Given the description of an element on the screen output the (x, y) to click on. 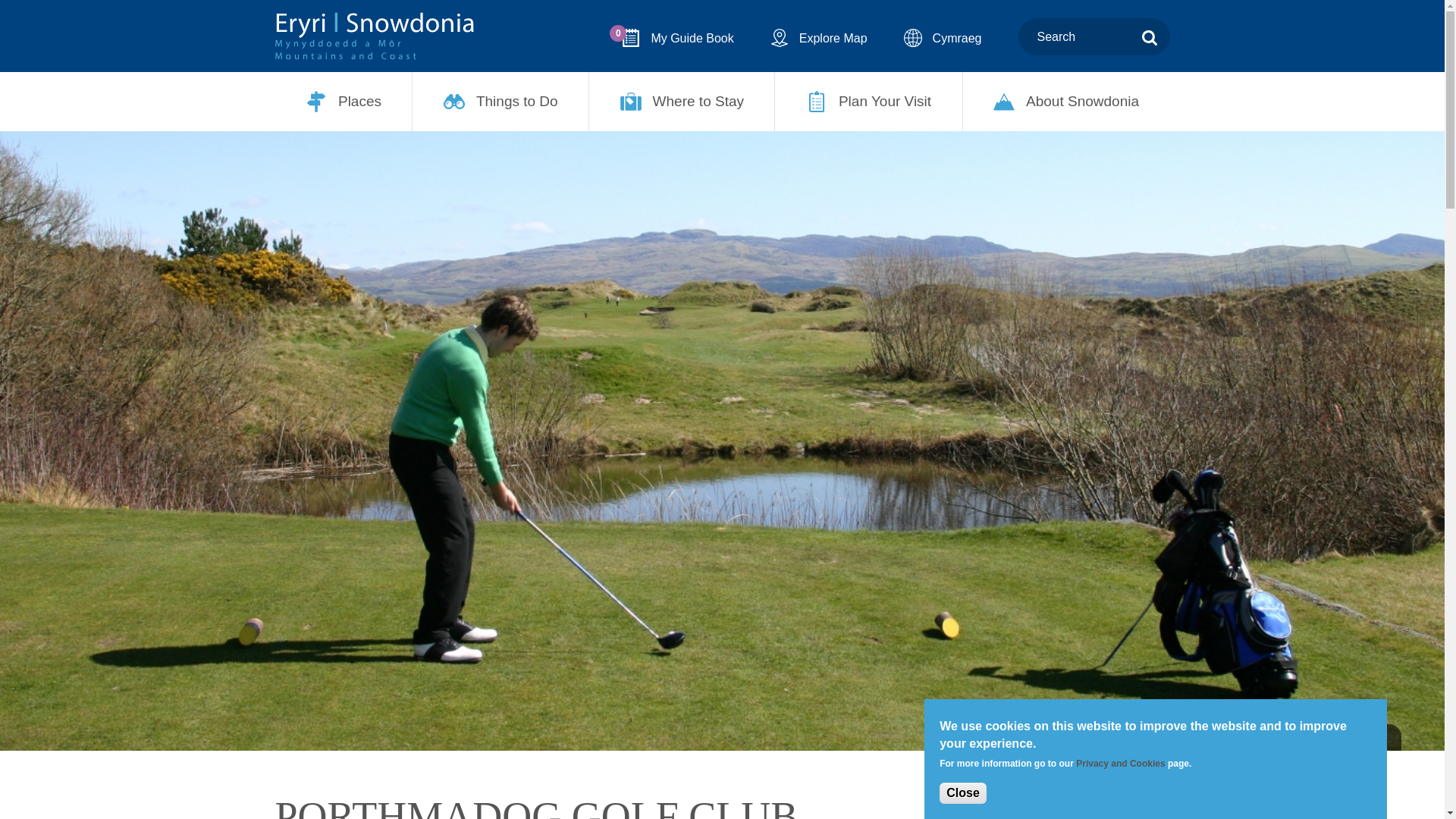
My Guide Book (677, 38)
About Snowdonia (1066, 101)
Search icon Search website posts (1149, 37)
Things to Do (500, 101)
Search icon Search website posts (1149, 36)
Plan Your Visit (867, 101)
Home (374, 35)
Things to Do (500, 101)
Search (1149, 36)
Explore Map (818, 38)
Where to Stay (681, 101)
Cymraeg (677, 38)
Language Select (942, 38)
